Given the description of an element on the screen output the (x, y) to click on. 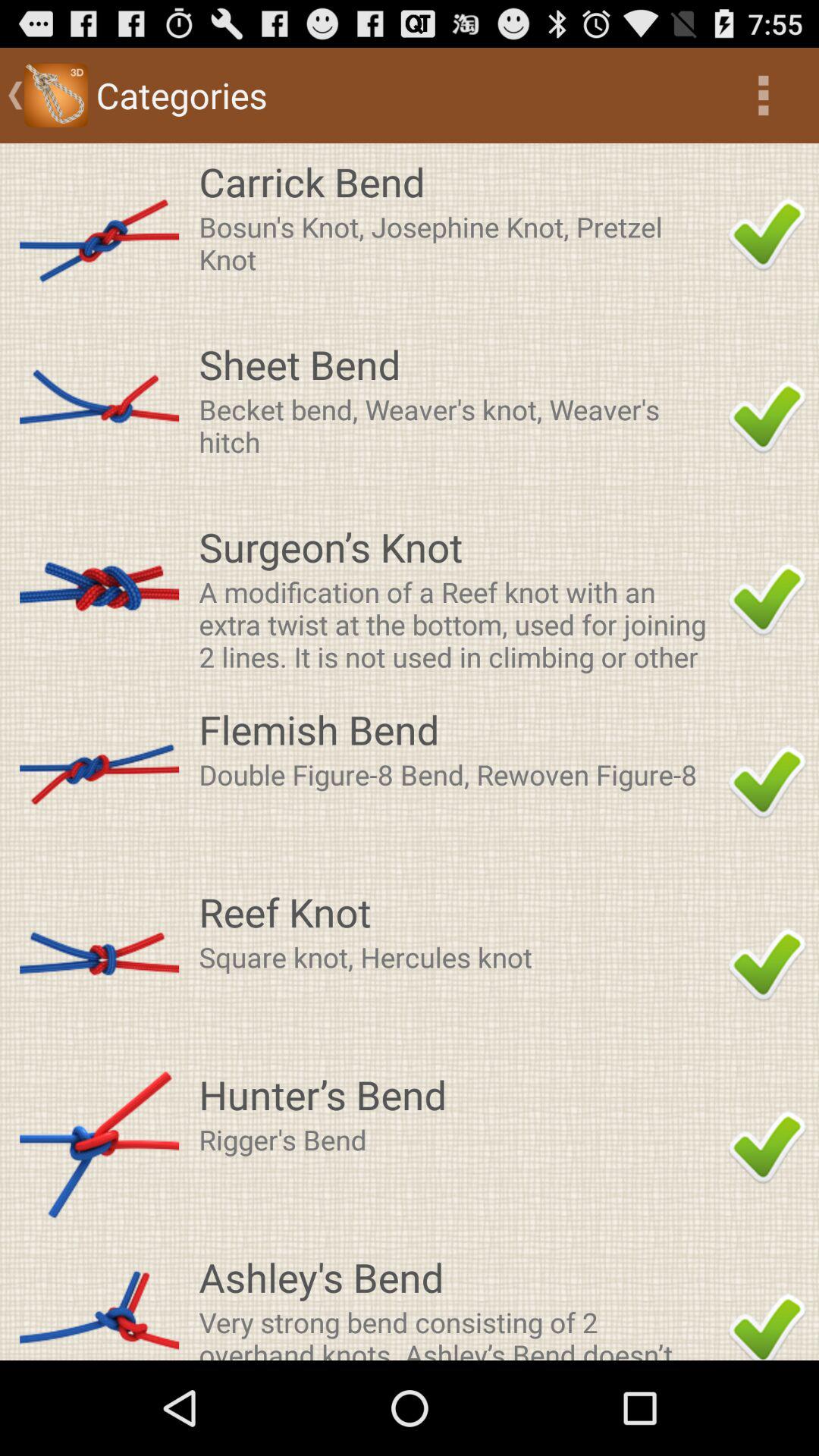
jump until flemish bend app (459, 728)
